Given the description of an element on the screen output the (x, y) to click on. 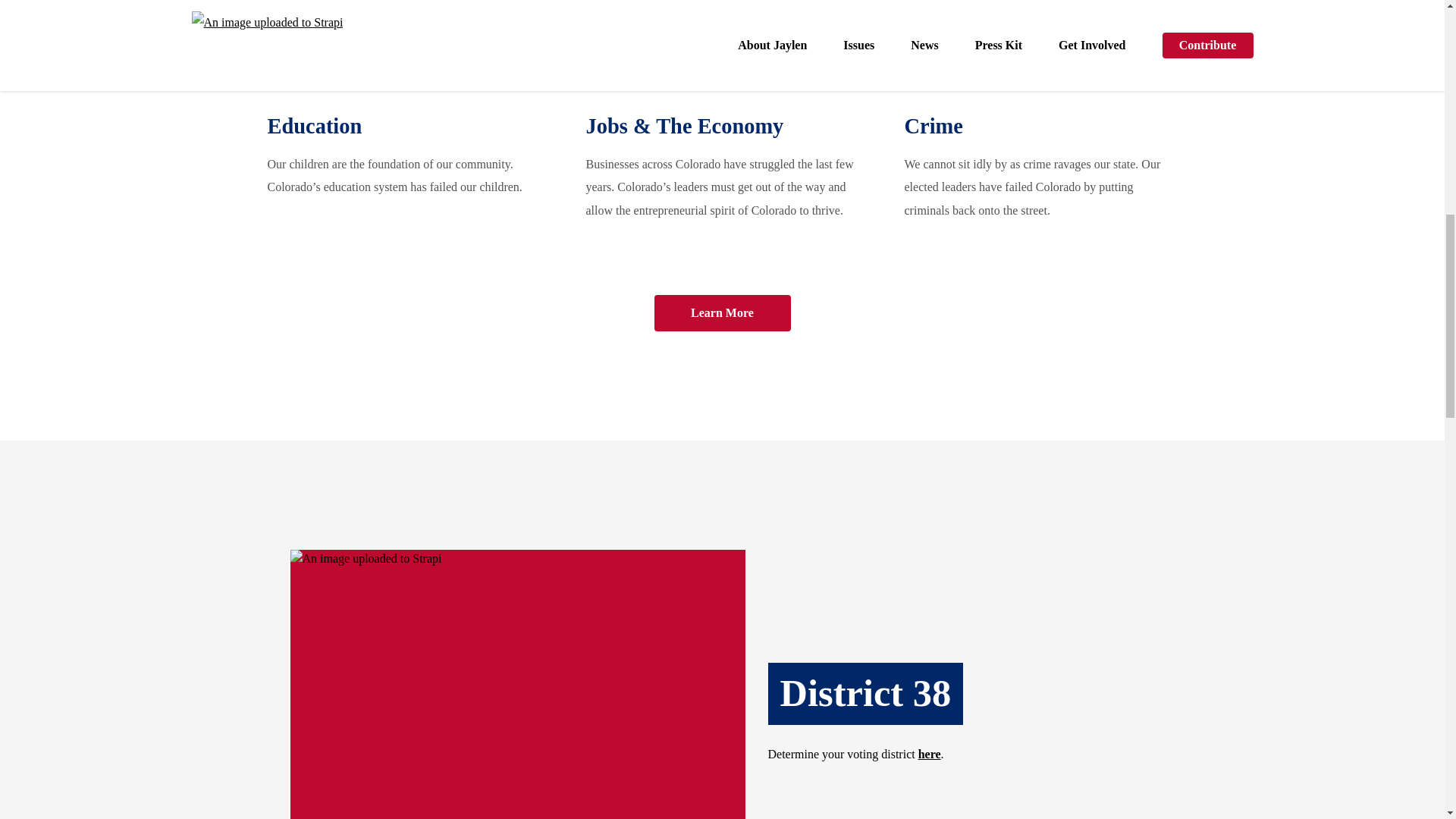
here (929, 753)
Learn More (721, 312)
